Given the description of an element on the screen output the (x, y) to click on. 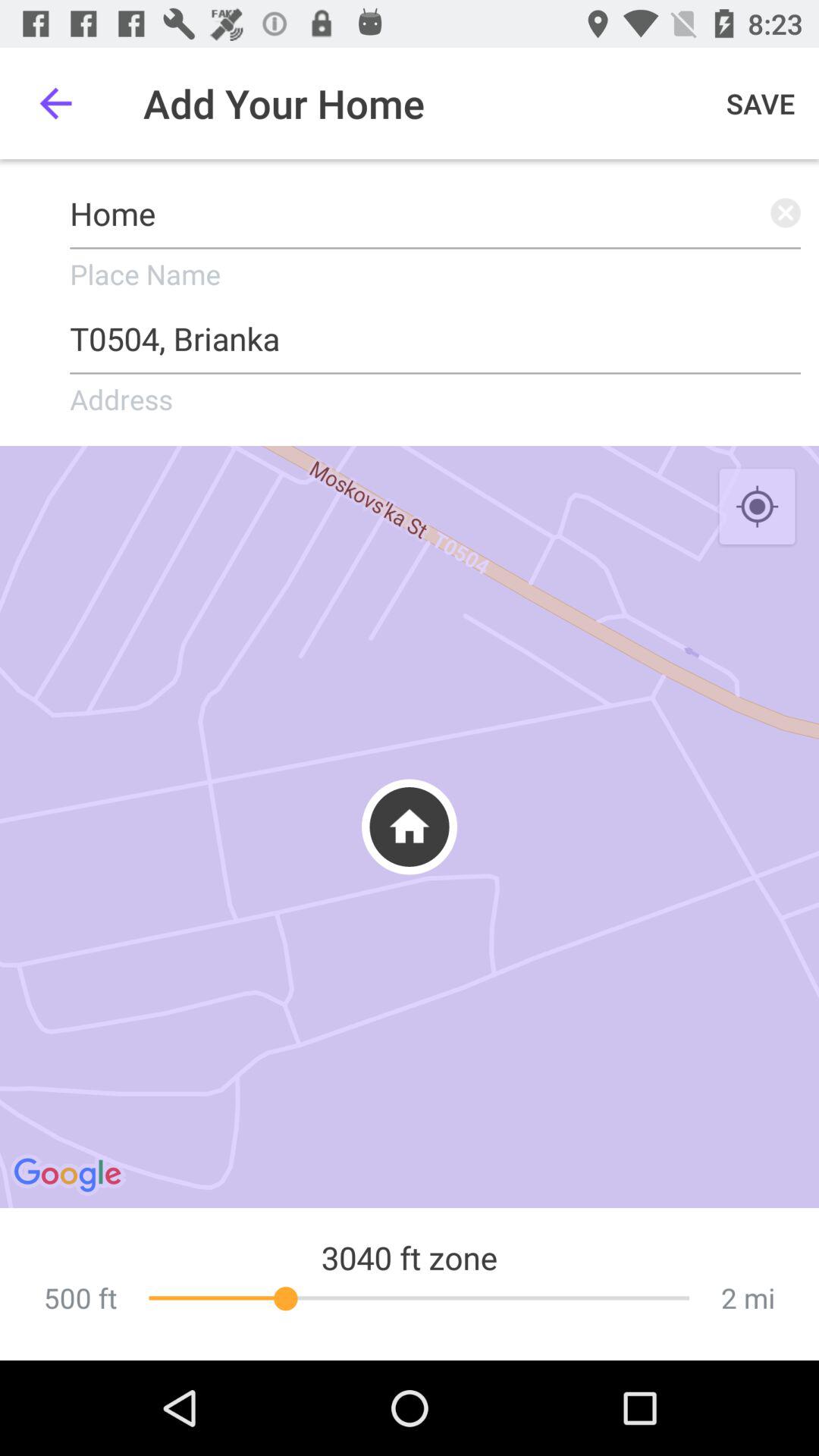
turn on the item above home (55, 103)
